Given the description of an element on the screen output the (x, y) to click on. 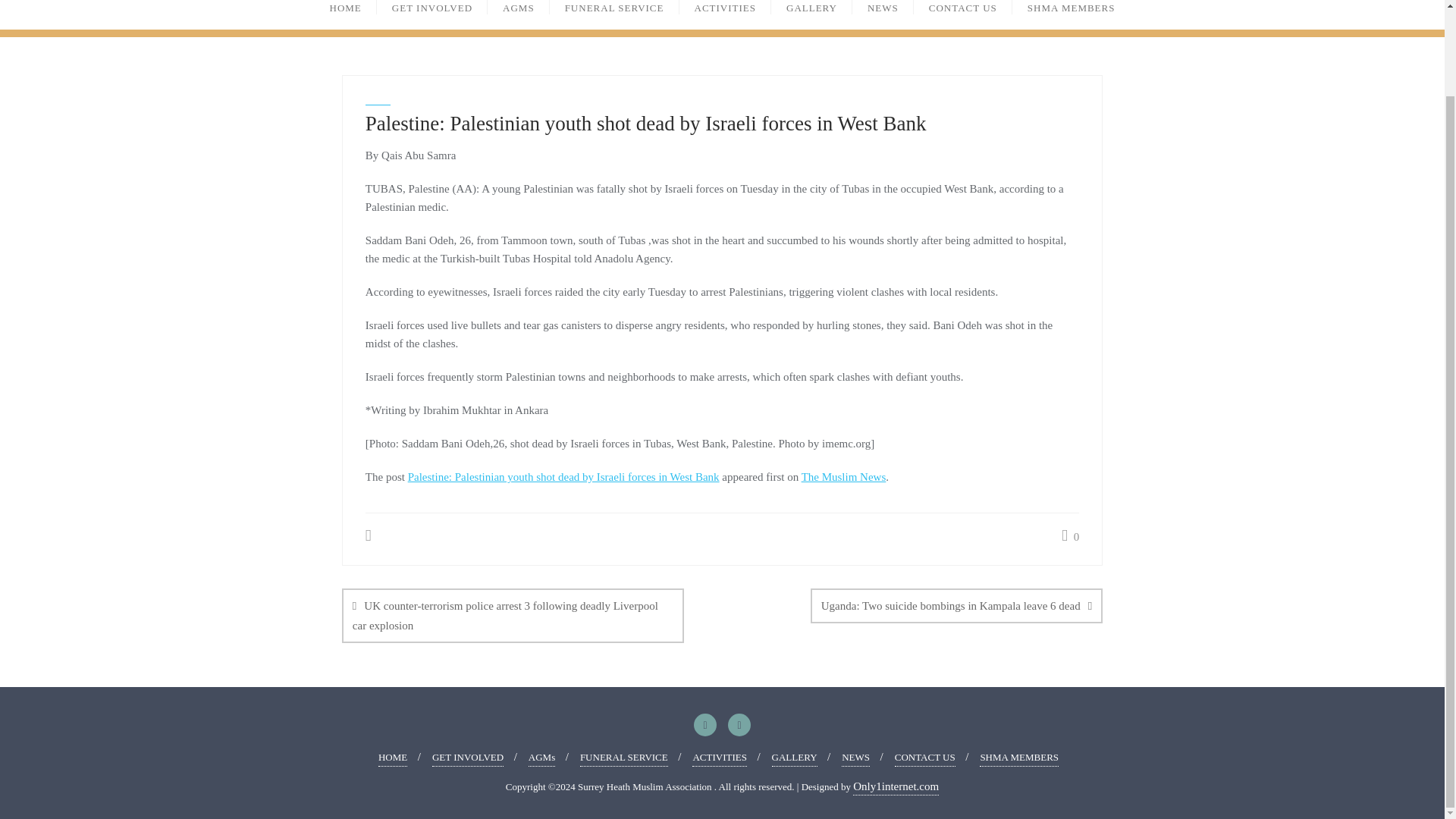
SHMA MEMBERS (1071, 14)
HOME (392, 757)
ACTIVITIES (719, 757)
Only1internet.com (896, 786)
NEWS (855, 757)
NEWS (882, 14)
FUNERAL SERVICE (623, 757)
The Muslim News (844, 476)
